Given the description of an element on the screen output the (x, y) to click on. 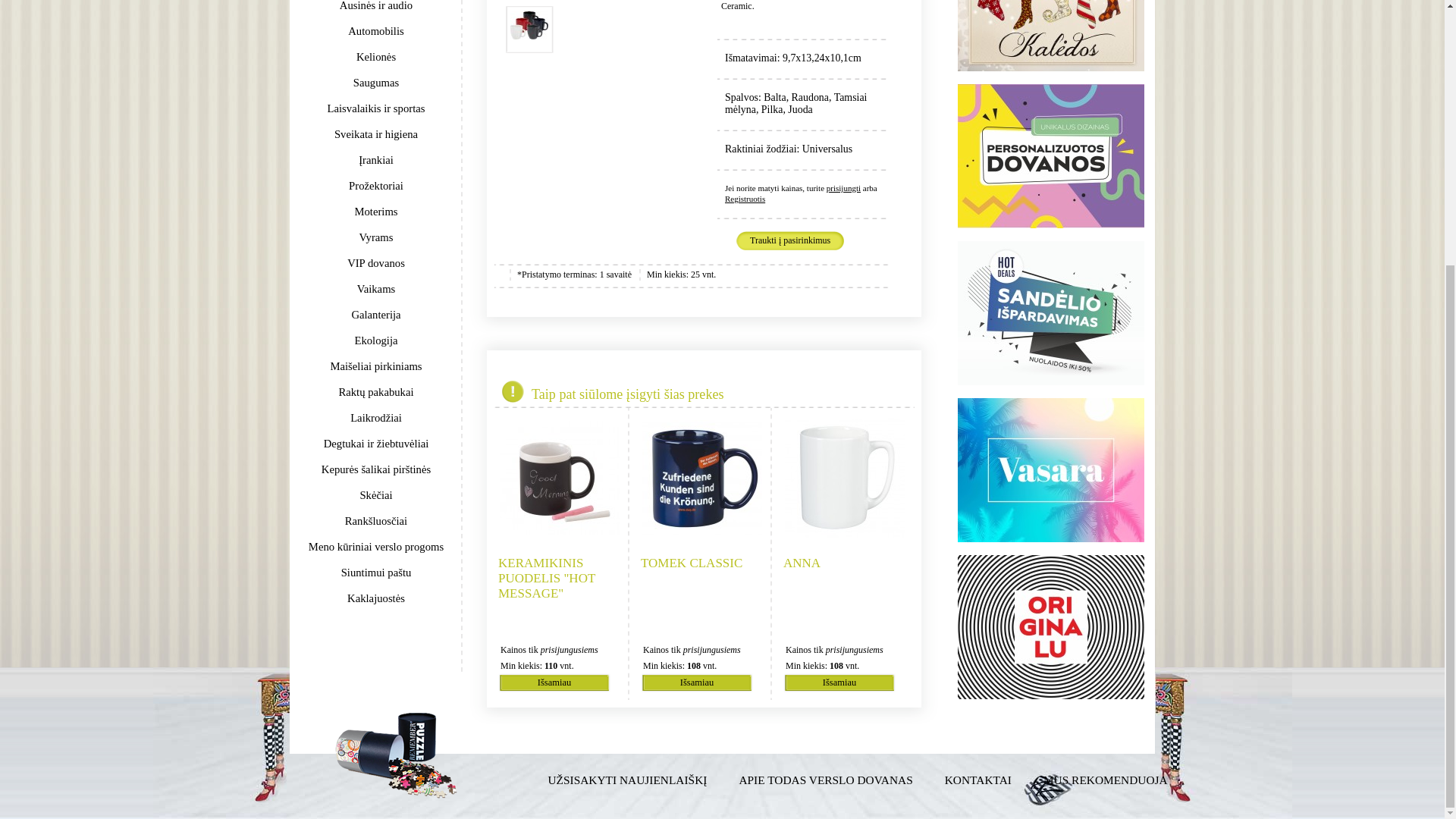
Galanterija (376, 314)
Sveikata ir higiena (376, 134)
Ekologija (376, 339)
Saugumas (376, 82)
Vyrams (376, 237)
Automobilis (376, 31)
Laisvalaikis ir sportas (376, 108)
VIP dovanos (376, 263)
Moterims (376, 211)
Vaikams (376, 289)
